Given the description of an element on the screen output the (x, y) to click on. 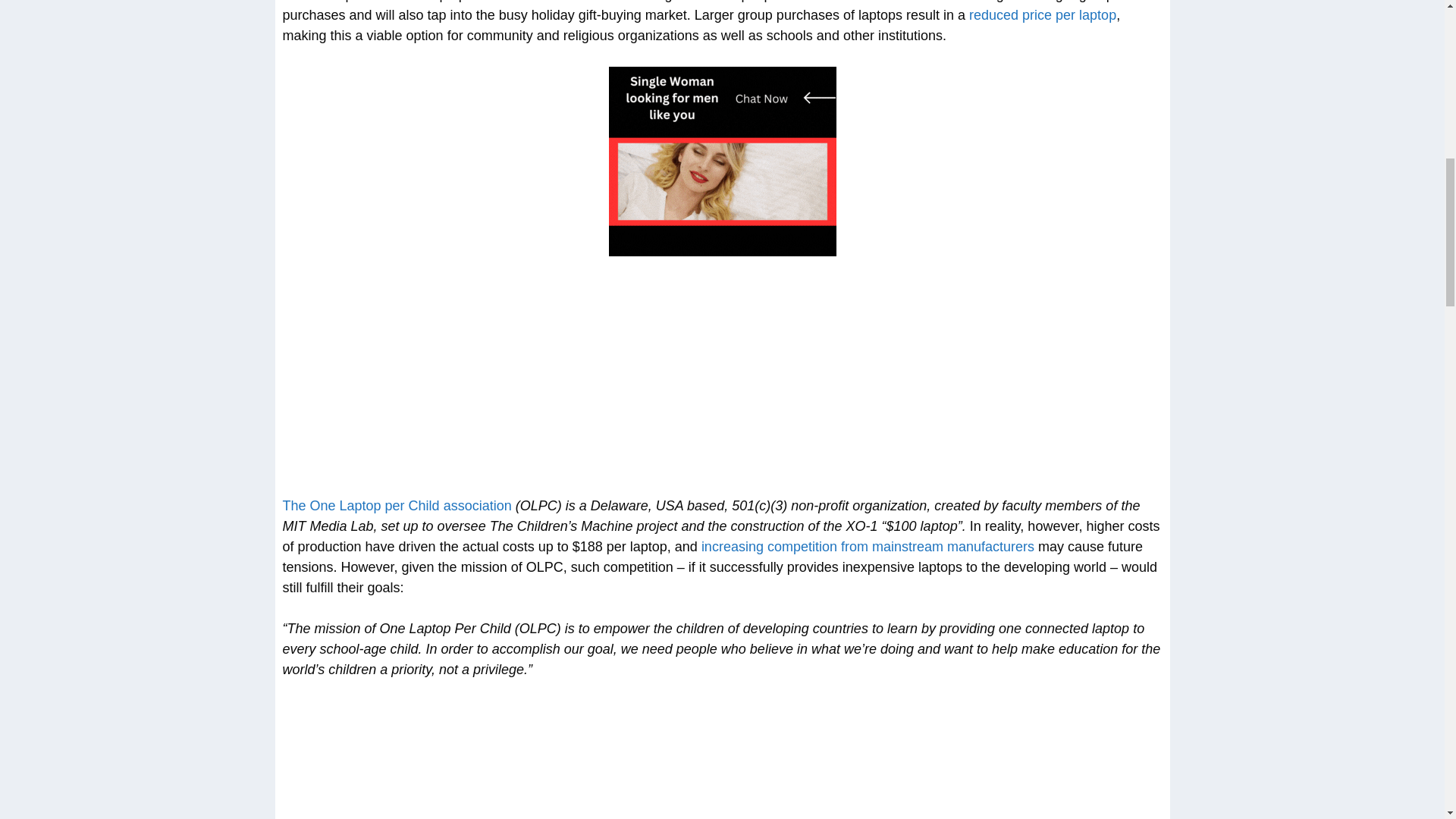
The One Laptop per Child association (396, 505)
Wikipedia Article (396, 505)
